Given the description of an element on the screen output the (x, y) to click on. 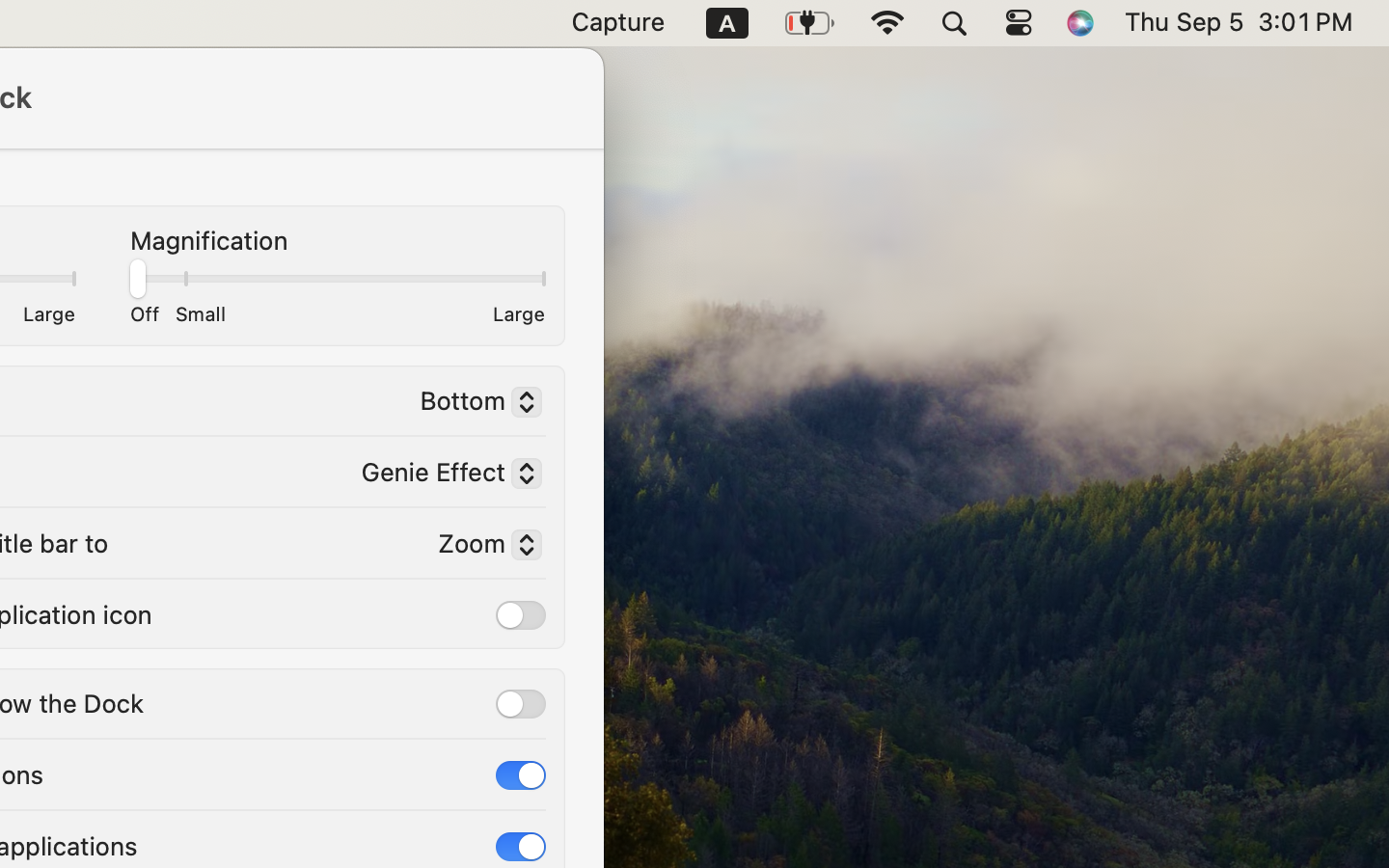
0.0 Element type: AXSlider (336, 274)
Bottom Element type: AXPopUpButton (472, 403)
Genie Effect Element type: AXPopUpButton (443, 475)
